Given the description of an element on the screen output the (x, y) to click on. 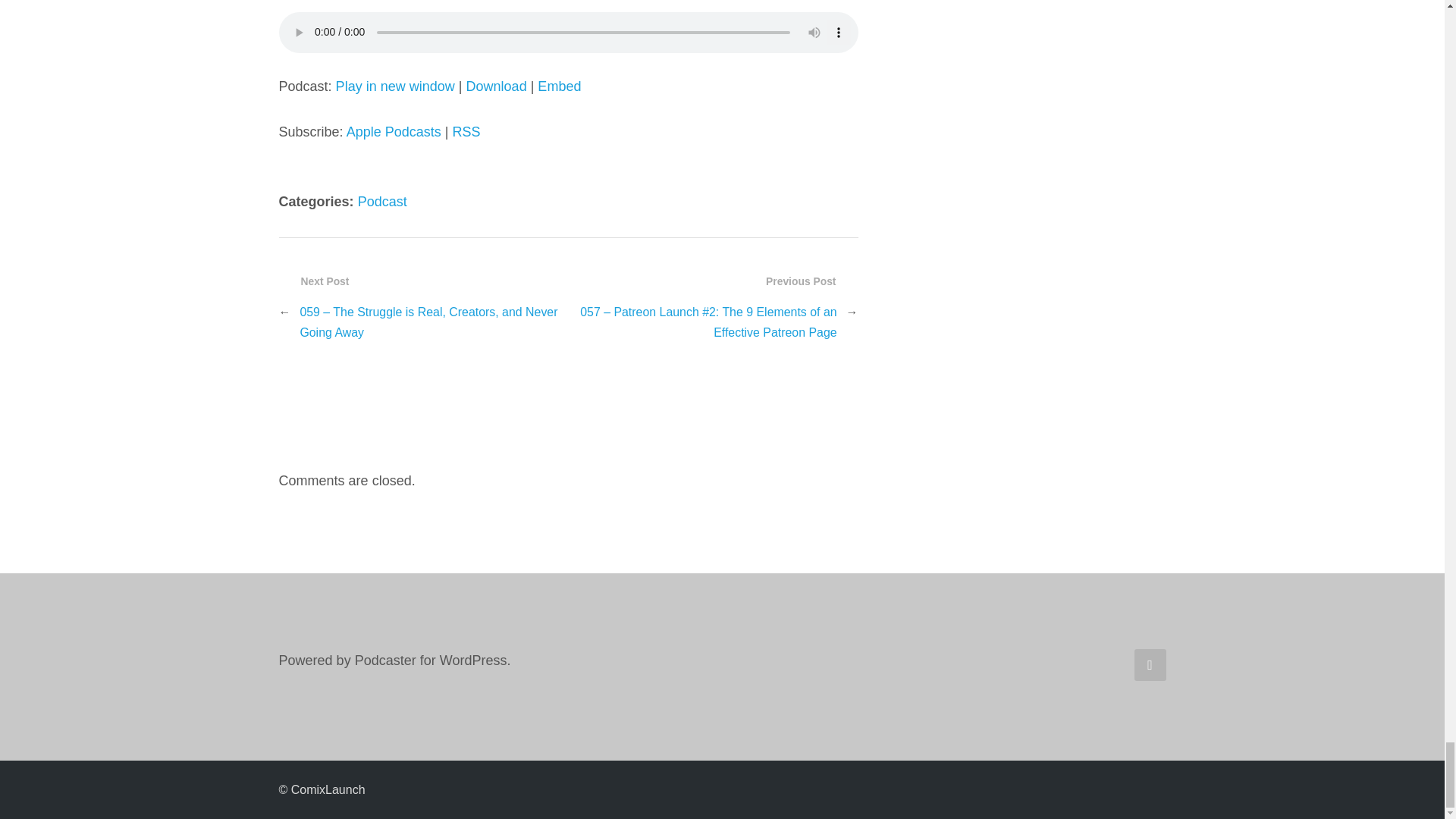
Download (496, 86)
RSS (466, 131)
Subscribe on Apple Podcasts (393, 131)
Embed (558, 86)
Play in new window (395, 86)
Download (496, 86)
Embed (558, 86)
Podcast (382, 201)
Subscribe via RSS (466, 131)
Apple Podcasts (393, 131)
Play in new window (395, 86)
